Given the description of an element on the screen output the (x, y) to click on. 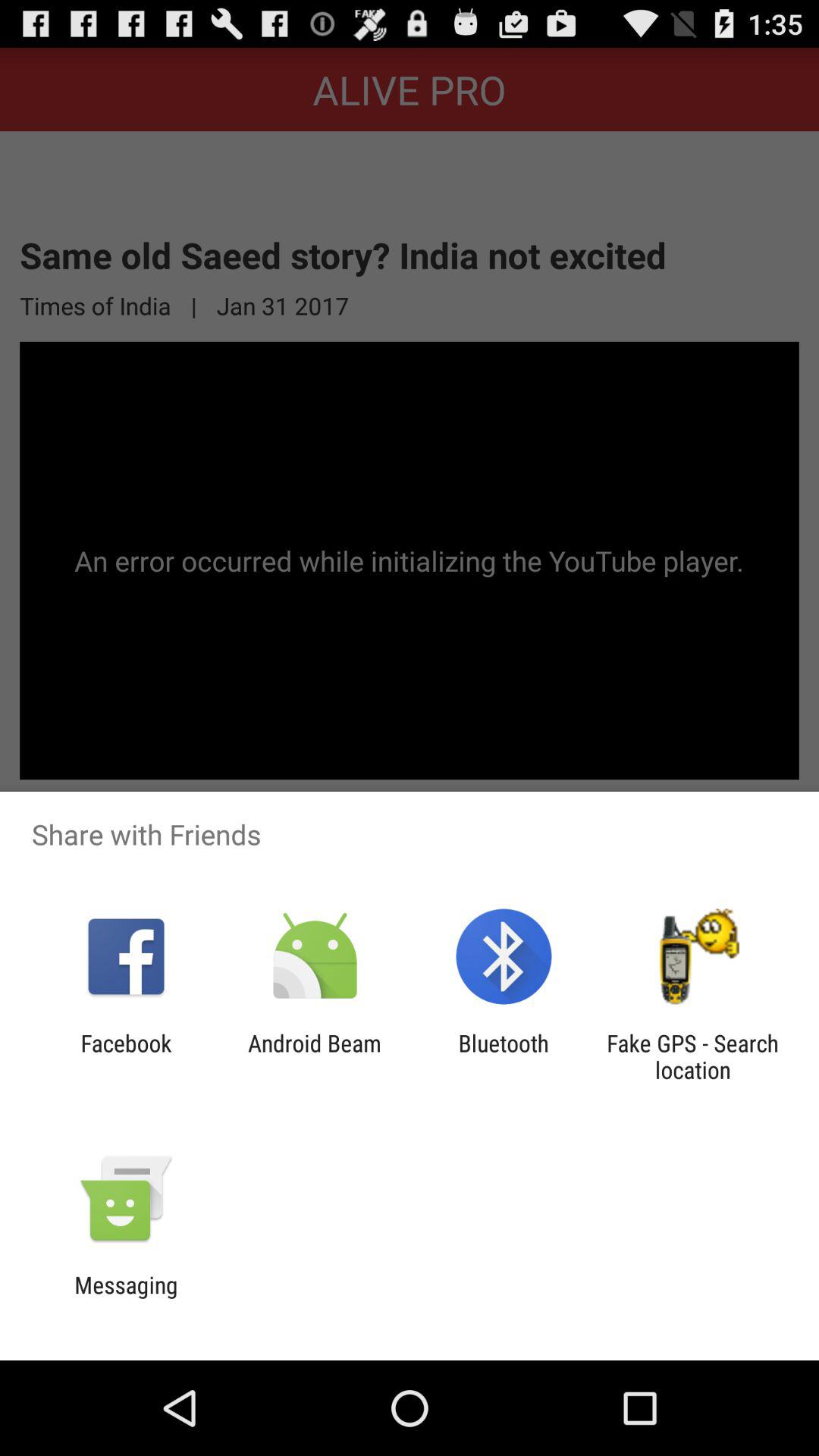
tap the app to the right of facebook item (314, 1056)
